Given the description of an element on the screen output the (x, y) to click on. 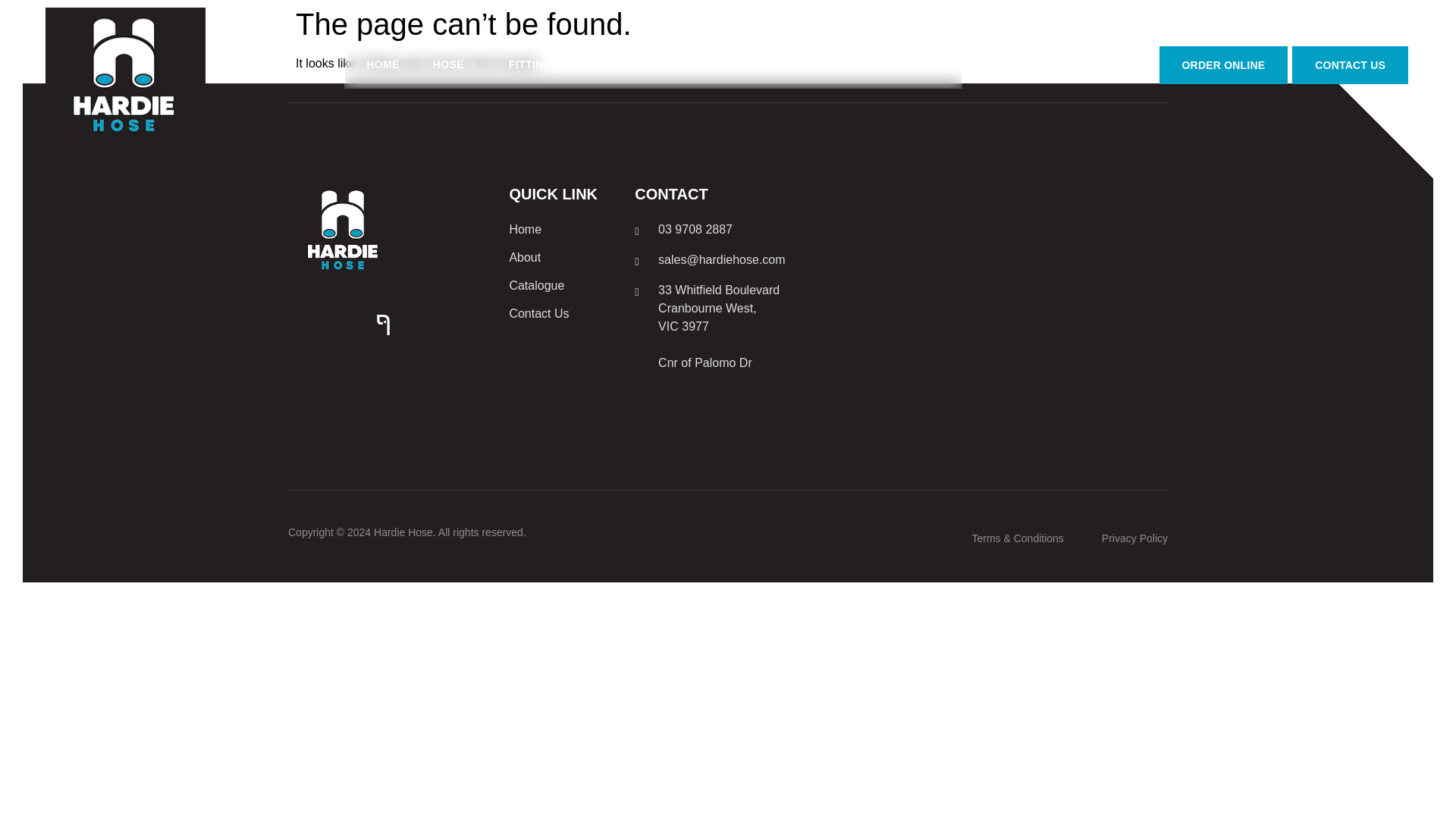
ABOUT (920, 64)
HOSE (454, 64)
CATALOGUE (833, 64)
FITTINGS (539, 64)
INDUSTRIES (726, 64)
OTHER (628, 64)
33 Whitfield Boulevard Cranbourne West, VIC 3977  (995, 296)
HOME (382, 64)
